Given the description of an element on the screen output the (x, y) to click on. 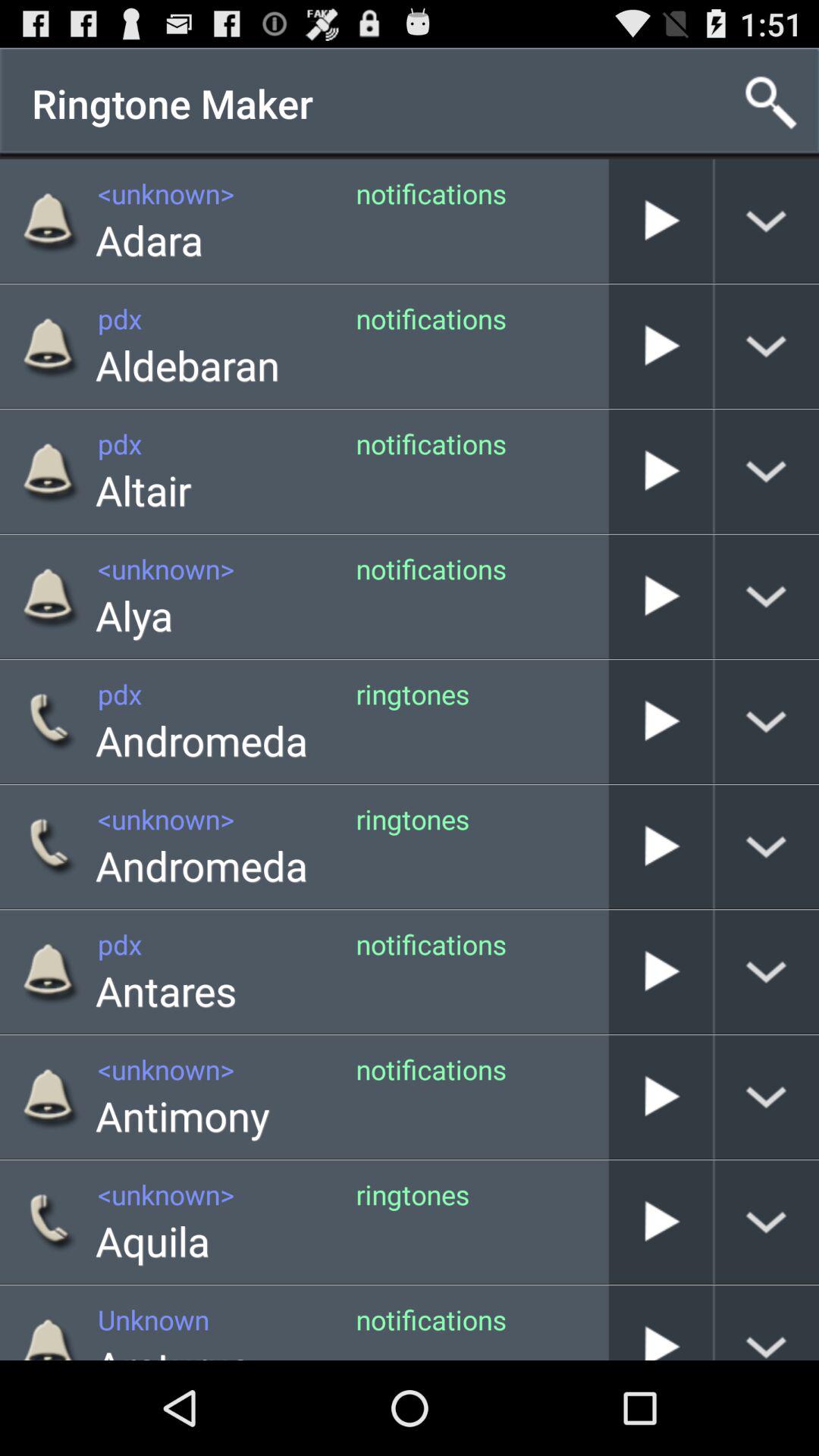
more information and options (767, 1322)
